Given the description of an element on the screen output the (x, y) to click on. 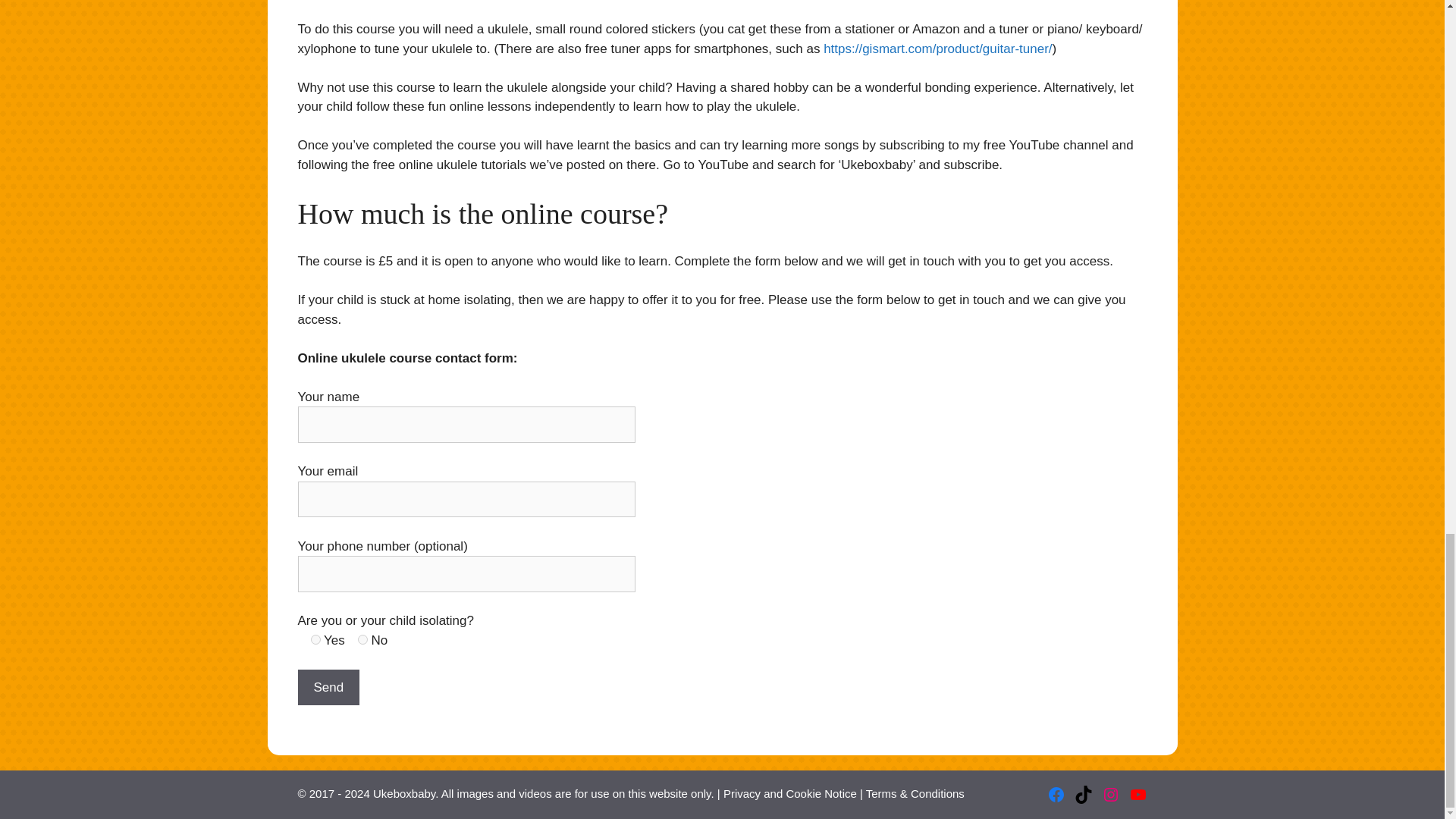
YouTube (1137, 794)
Yes (315, 639)
Instagram (1109, 794)
Send (328, 687)
Send (328, 687)
Facebook (1055, 794)
Privacy and Cookie Notice (790, 793)
No (363, 639)
TikTok (1083, 794)
